Given the description of an element on the screen output the (x, y) to click on. 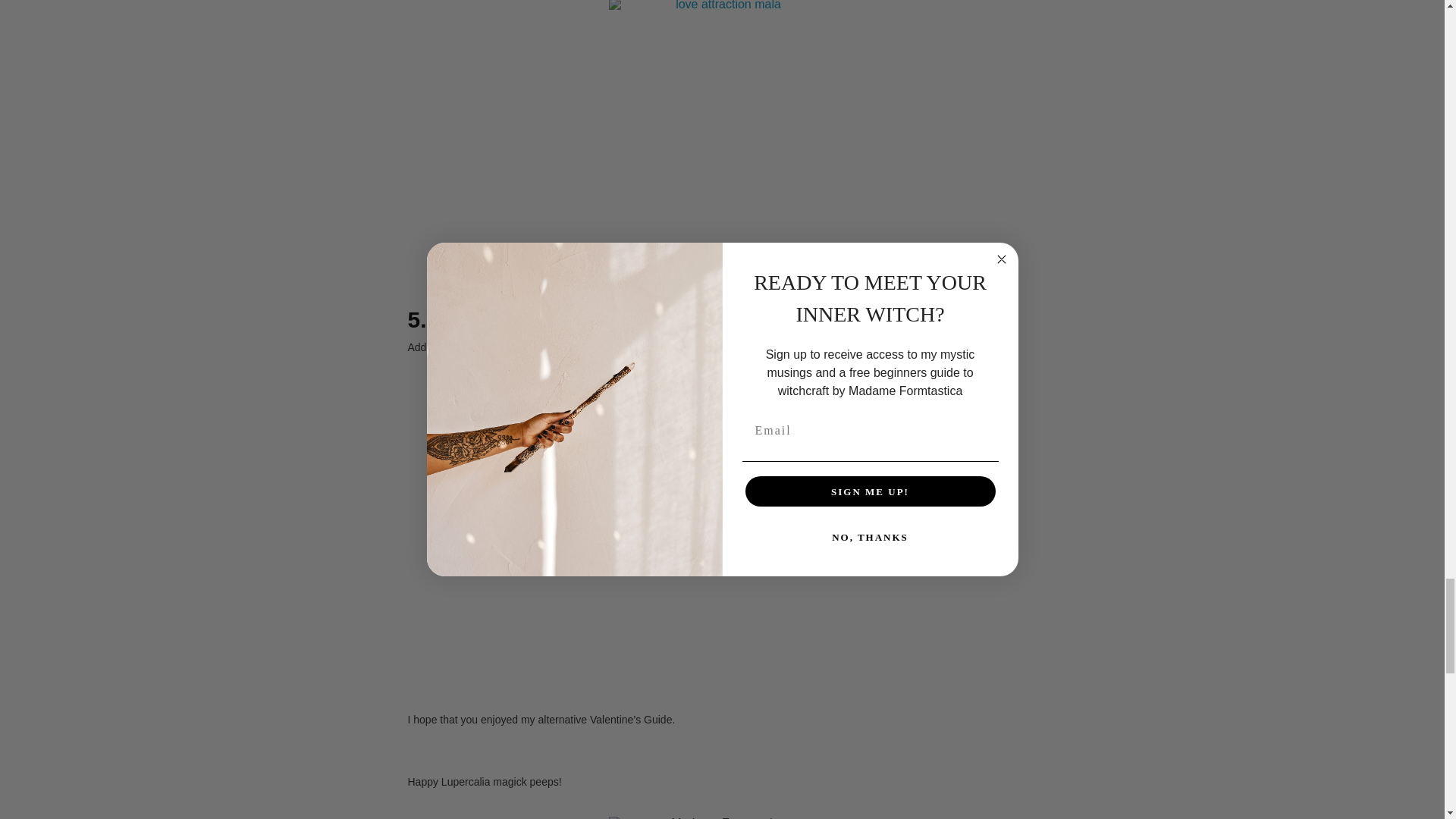
Rose Quartz Alter Slabs (896, 346)
